Given the description of an element on the screen output the (x, y) to click on. 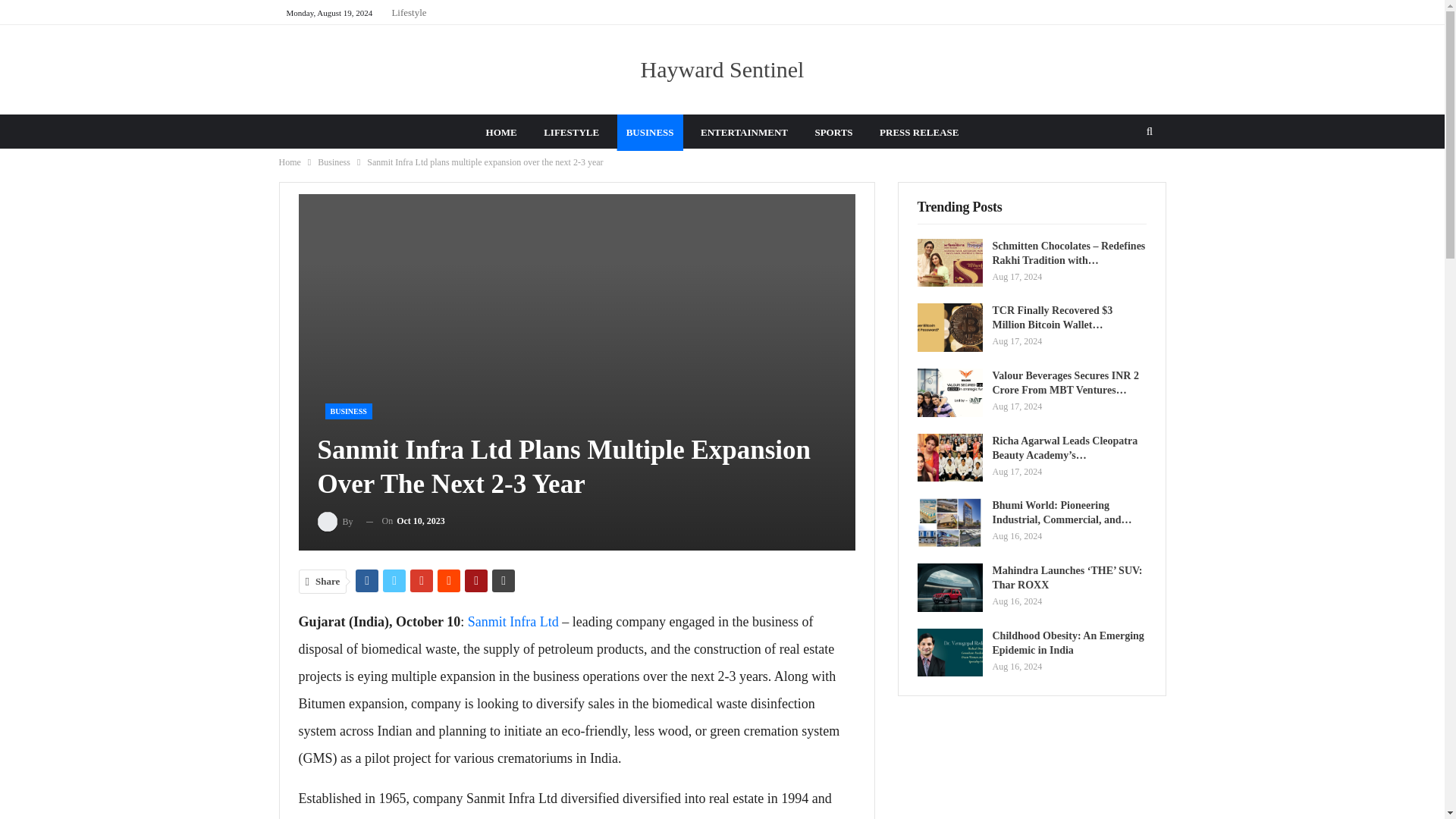
Business (333, 161)
Sanmit Infra Ltd (513, 621)
ENTERTAINMENT (743, 132)
BUSINESS (347, 411)
PRESS RELEASE (919, 132)
SPORTS (833, 132)
Home (290, 161)
Browse Author Articles (335, 521)
BUSINESS (649, 132)
